Given the description of an element on the screen output the (x, y) to click on. 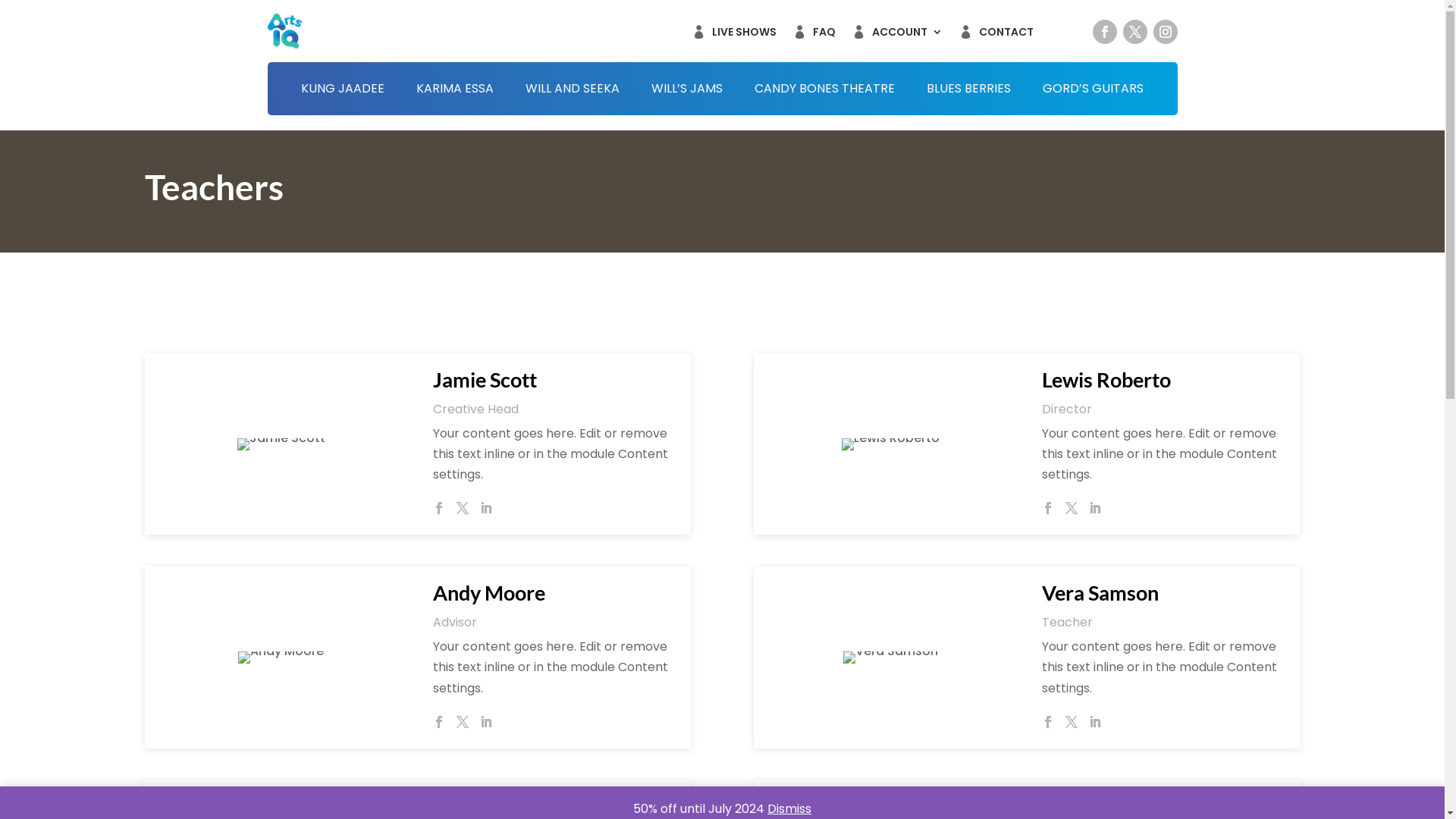
FAQ Element type: text (823, 37)
arts iq logo plain Element type: hover (283, 31)
Dismiss Element type: text (789, 808)
Follow on Facebook Element type: hover (1104, 31)
Follow on X Element type: hover (1134, 31)
KUNG JAADEE Element type: text (342, 91)
CANDY BONES THEATRE Element type: text (824, 91)
LIVE SHOWS Element type: text (743, 37)
Follow on Instagram Element type: hover (1164, 31)
WILL AND SEEKA Element type: text (572, 91)
BLUES BERRIES Element type: text (968, 91)
CONTACT Element type: text (1005, 37)
ACCOUNT Element type: text (907, 37)
KARIMA ESSA Element type: text (454, 91)
